Given the description of an element on the screen output the (x, y) to click on. 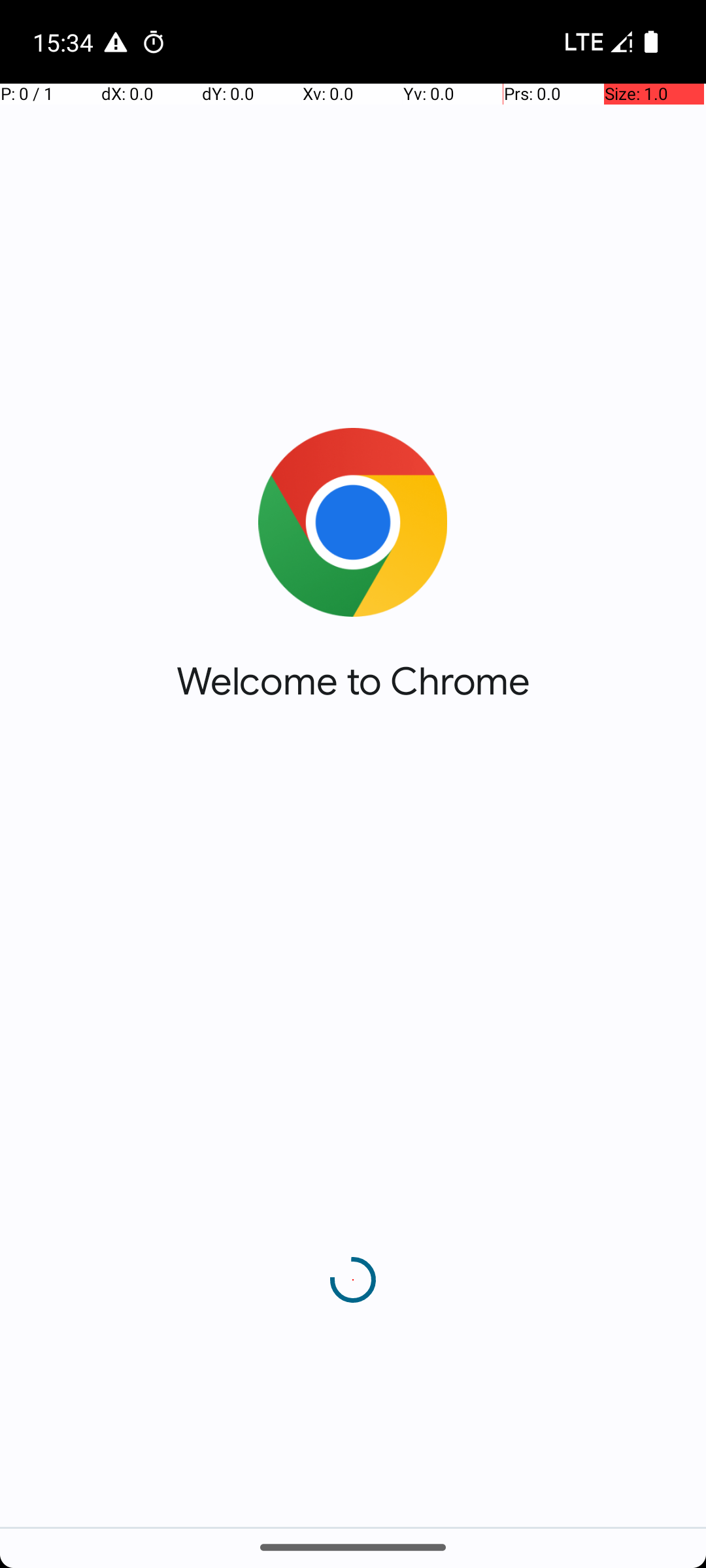
Welcome to Chrome Element type: android.widget.TextView (353, 681)
Phone one bar. Element type: android.widget.FrameLayout (595, 41)
